Given the description of an element on the screen output the (x, y) to click on. 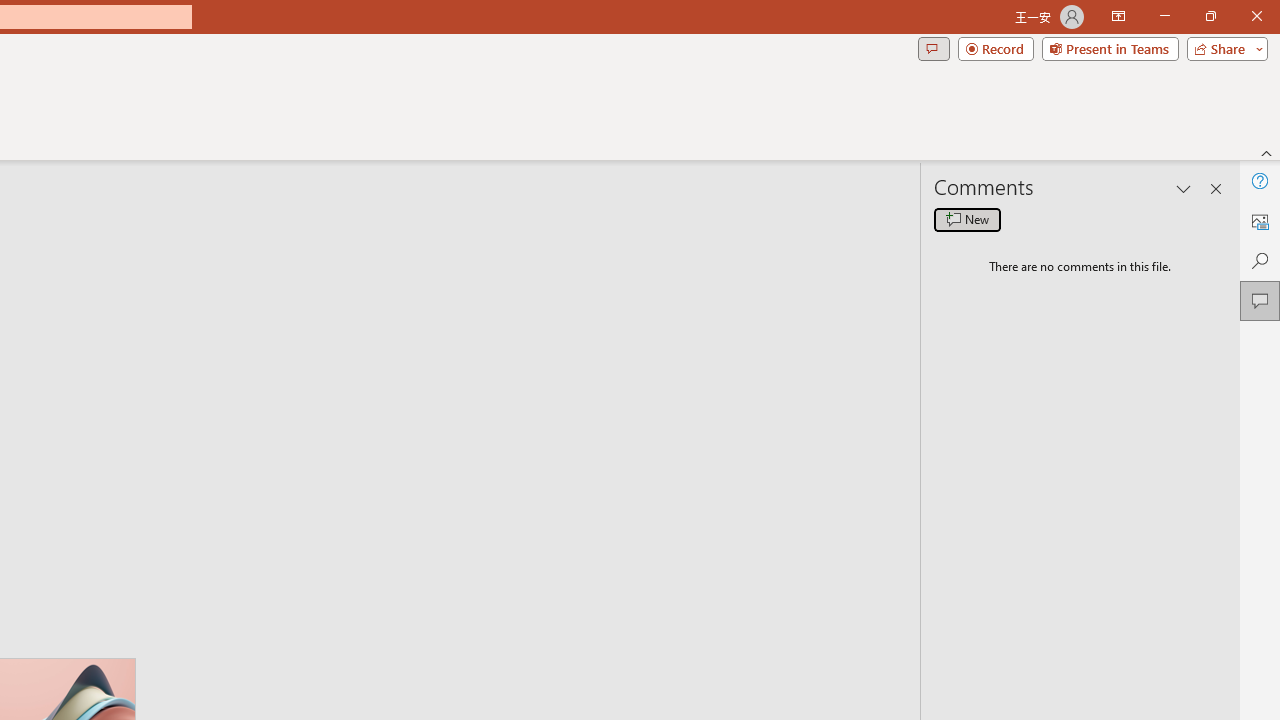
Alt Text (1260, 220)
New comment (967, 219)
